Given the description of an element on the screen output the (x, y) to click on. 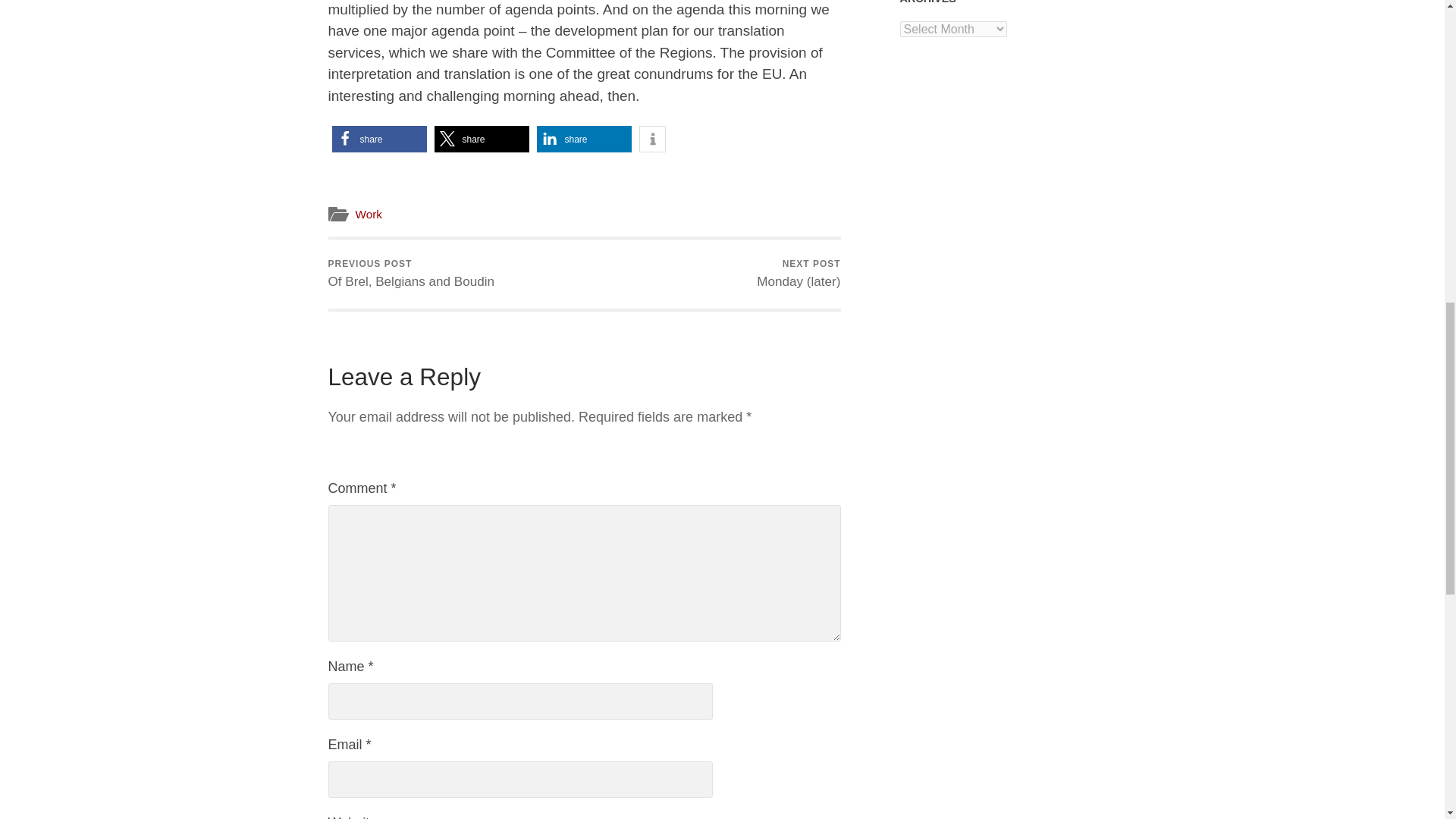
Share on X (480, 139)
share  (480, 139)
Share on LinkedIn (584, 139)
Next post: (798, 273)
share  (378, 139)
Share on Facebook (378, 139)
Previous post: Of Brel, Belgians and Boudin (411, 273)
share  (584, 139)
Work (368, 214)
